Given the description of an element on the screen output the (x, y) to click on. 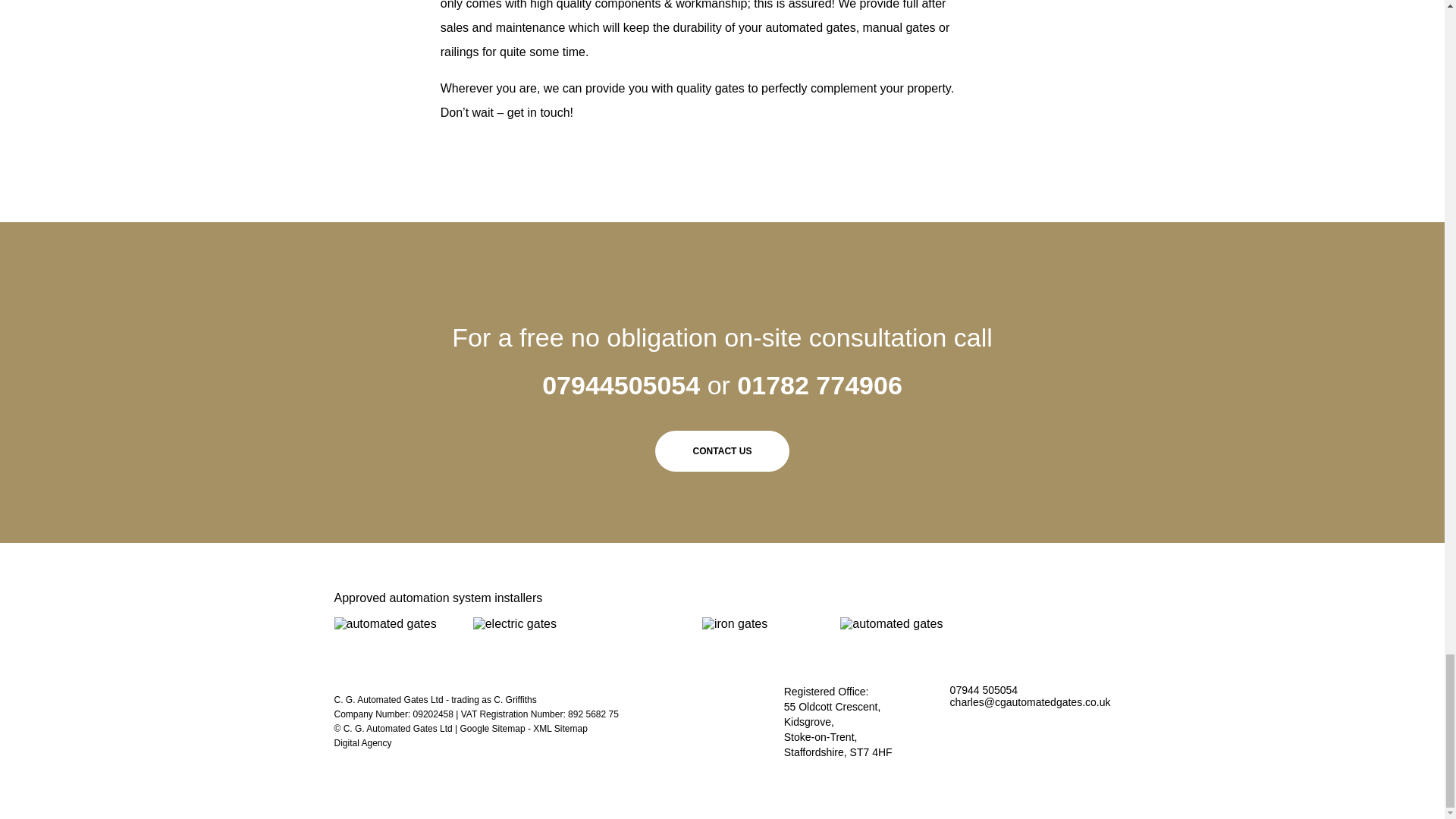
logo-sea (384, 623)
logo-liftmaster (514, 623)
Contact us (722, 450)
